Given the description of an element on the screen output the (x, y) to click on. 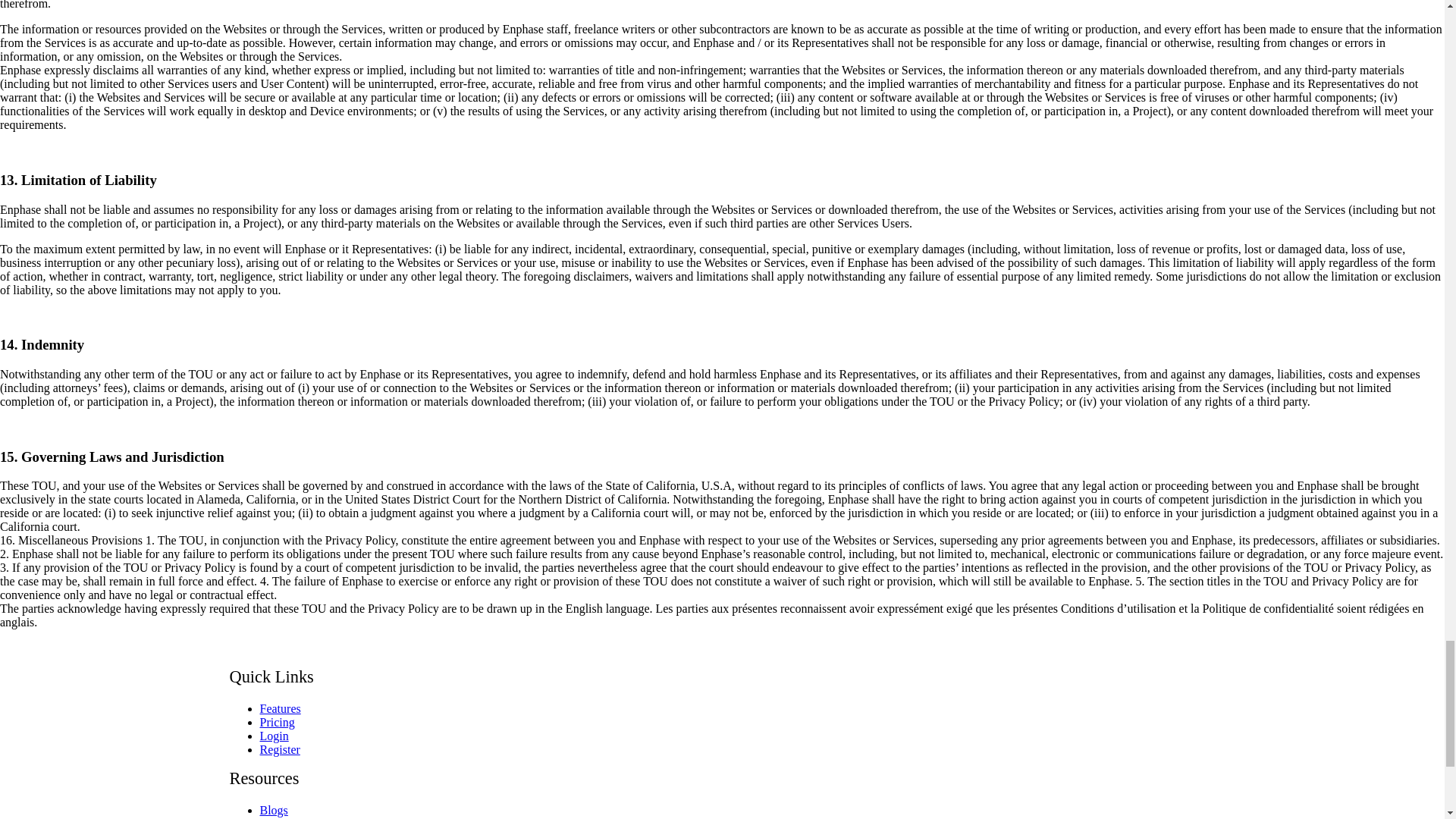
Pricing (276, 721)
API Documentation (307, 818)
Blogs (272, 809)
Register (279, 748)
Login (273, 735)
Features (279, 707)
